Given the description of an element on the screen output the (x, y) to click on. 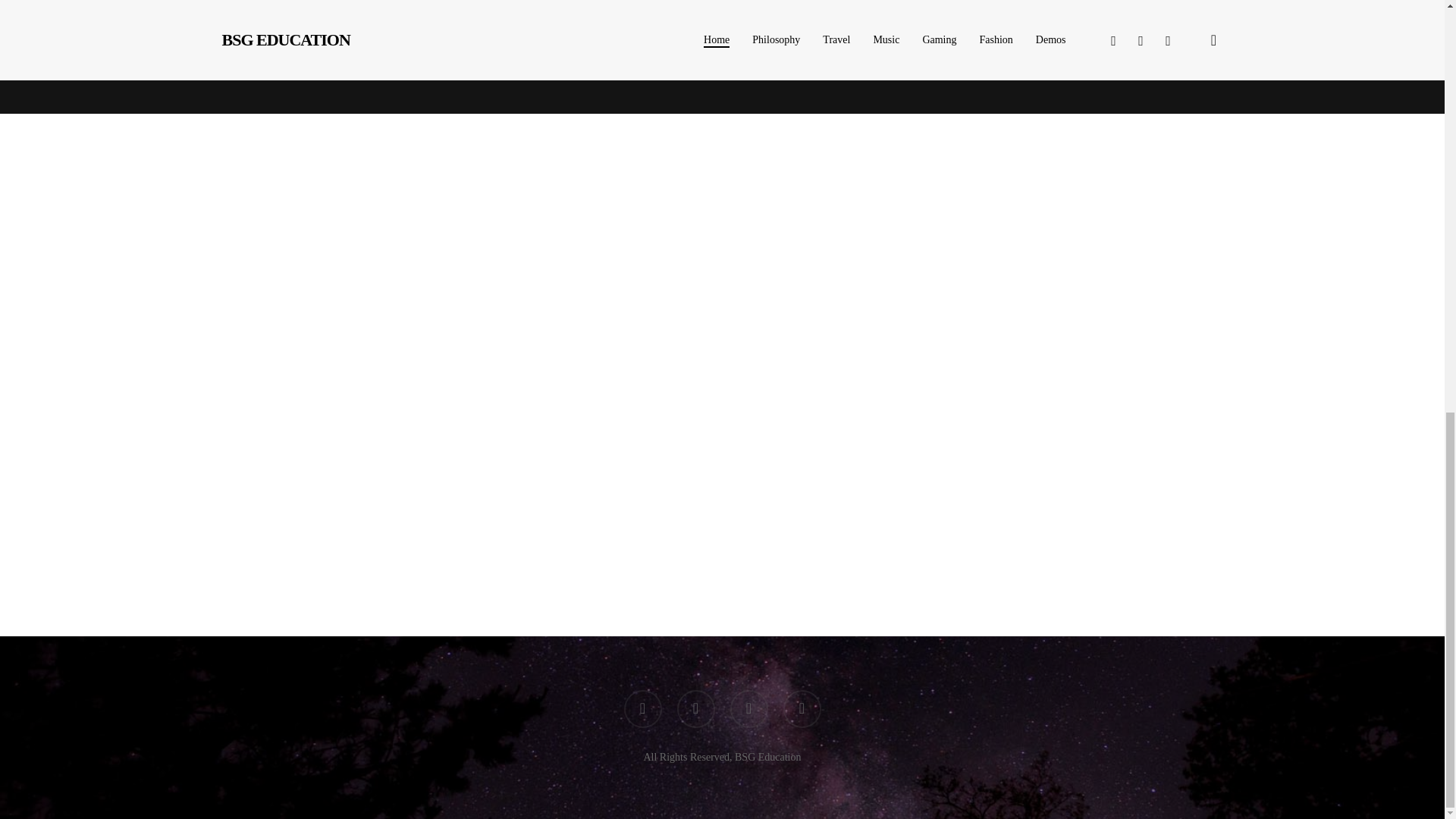
yelp (802, 709)
facebook (695, 709)
google-plus (748, 709)
twitter (642, 709)
